Given the description of an element on the screen output the (x, y) to click on. 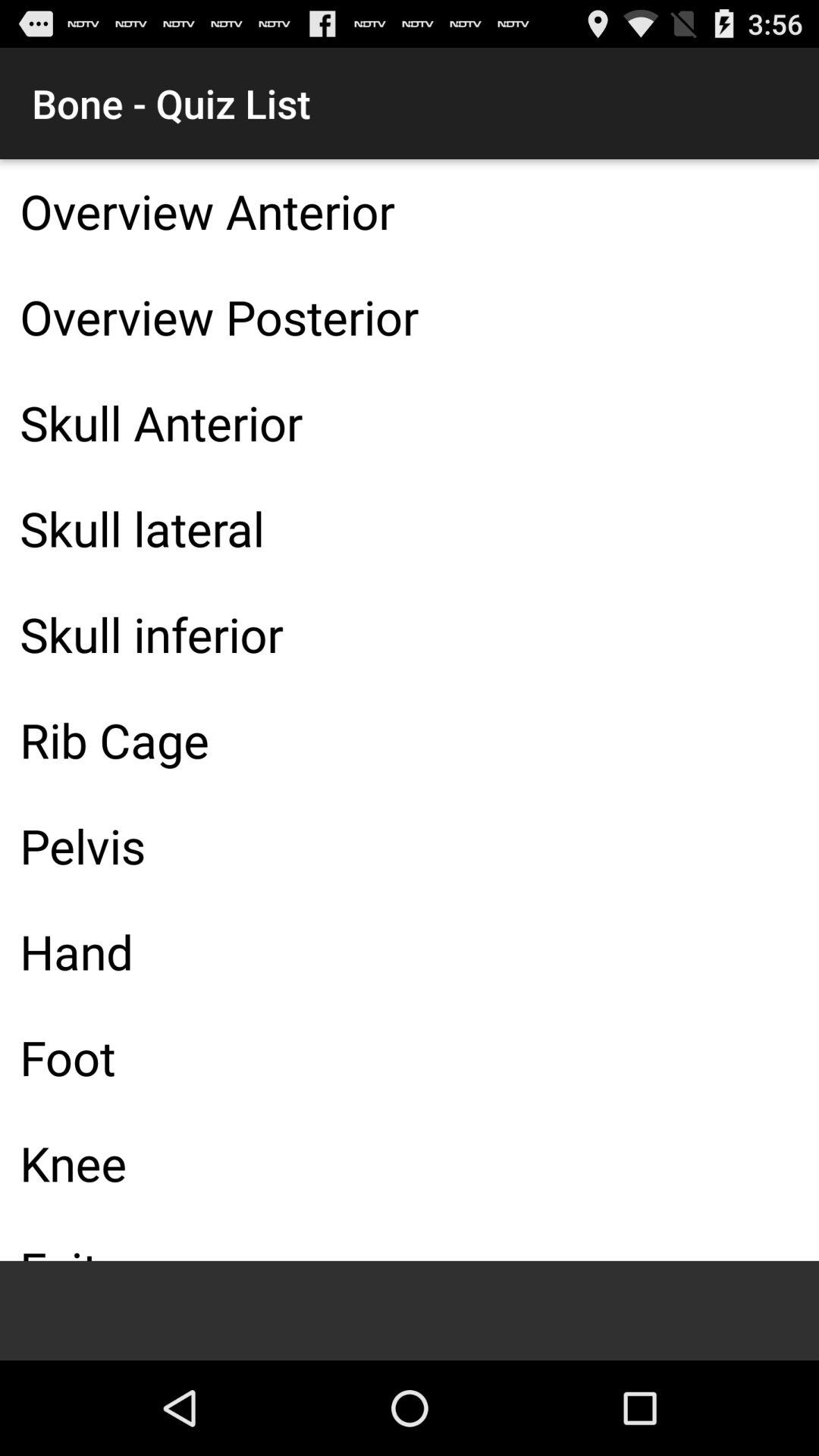
scroll to hand item (409, 951)
